Given the description of an element on the screen output the (x, y) to click on. 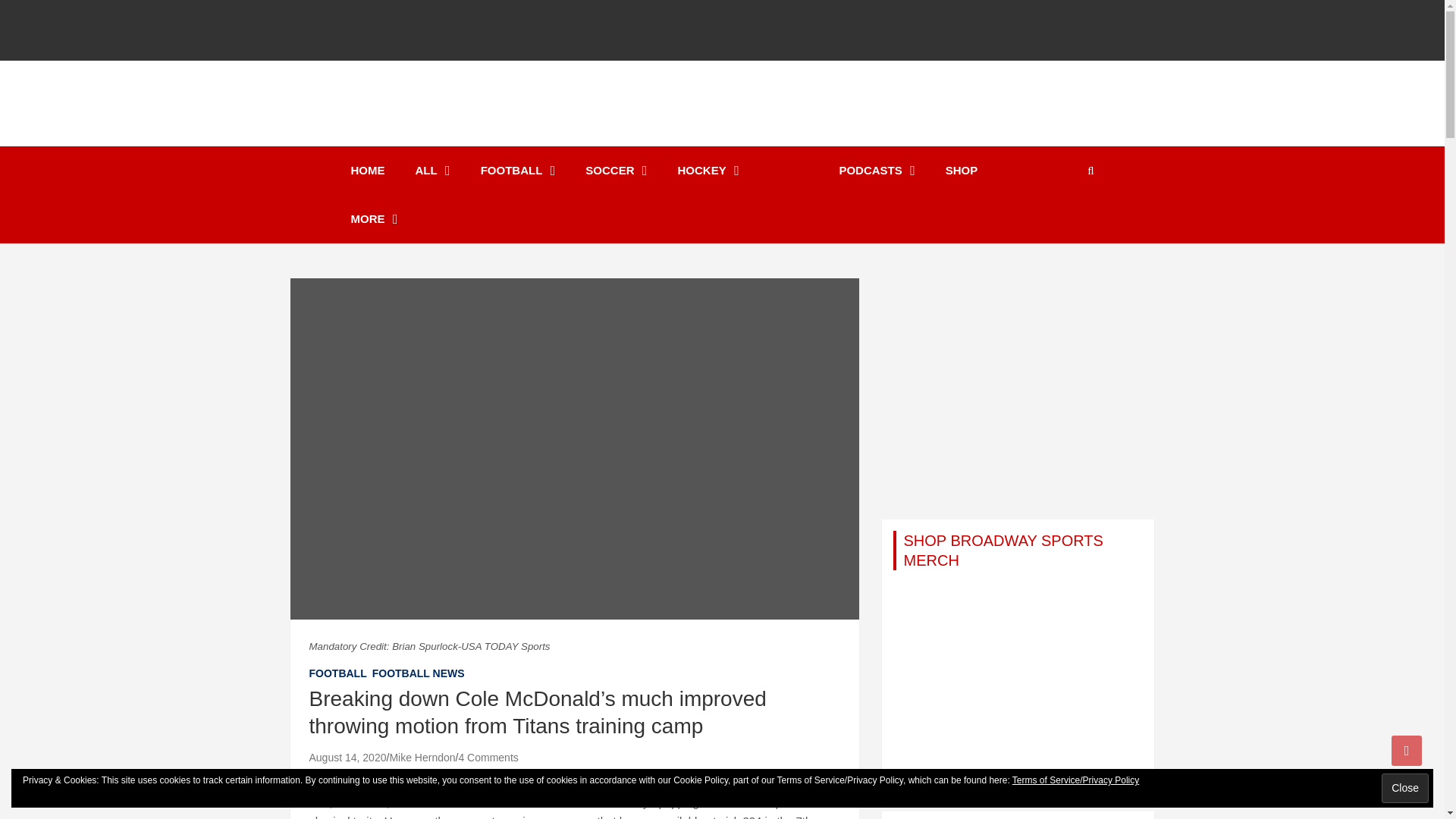
HOME (366, 170)
Go to Top (1406, 750)
ALL (432, 170)
FOOTBALL (517, 170)
Close (1404, 788)
